Given the description of an element on the screen output the (x, y) to click on. 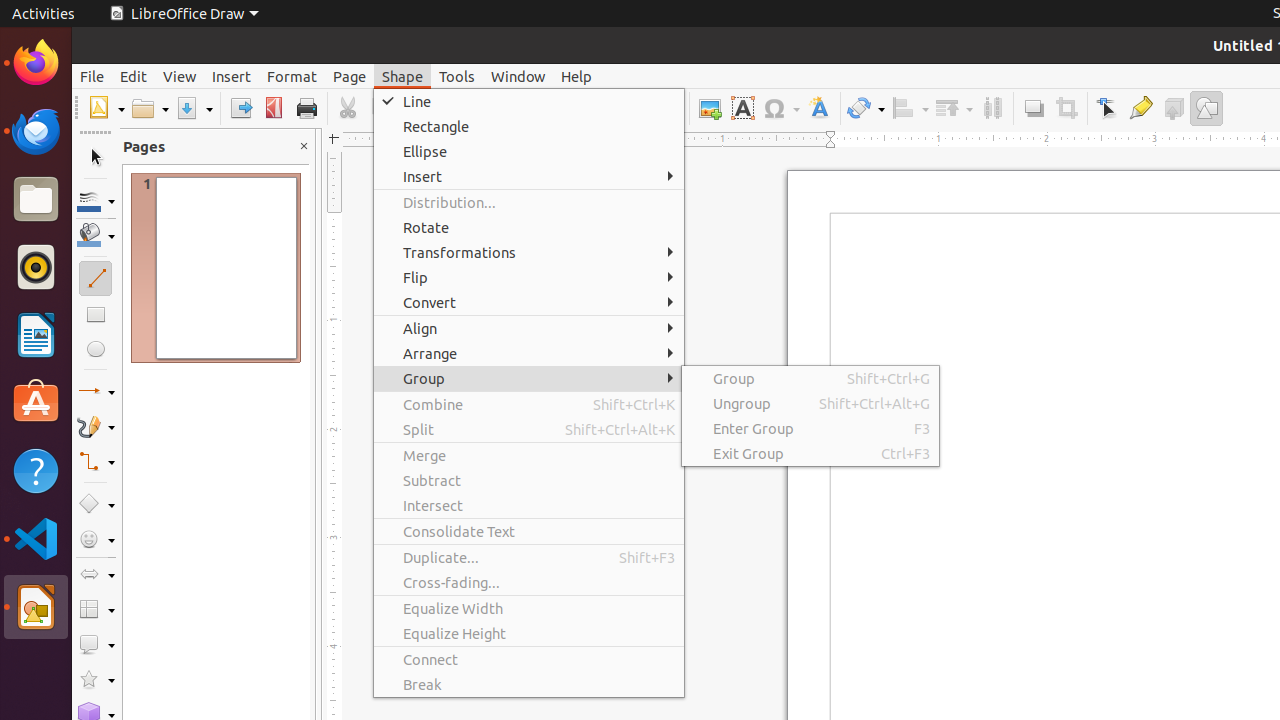
Toggle Extrusion Element type: push-button (1173, 108)
Glue Points Element type: push-button (1140, 108)
Arrange Element type: menu (529, 353)
View Element type: menu (179, 76)
Group Element type: menu (529, 378)
